Given the description of an element on the screen output the (x, y) to click on. 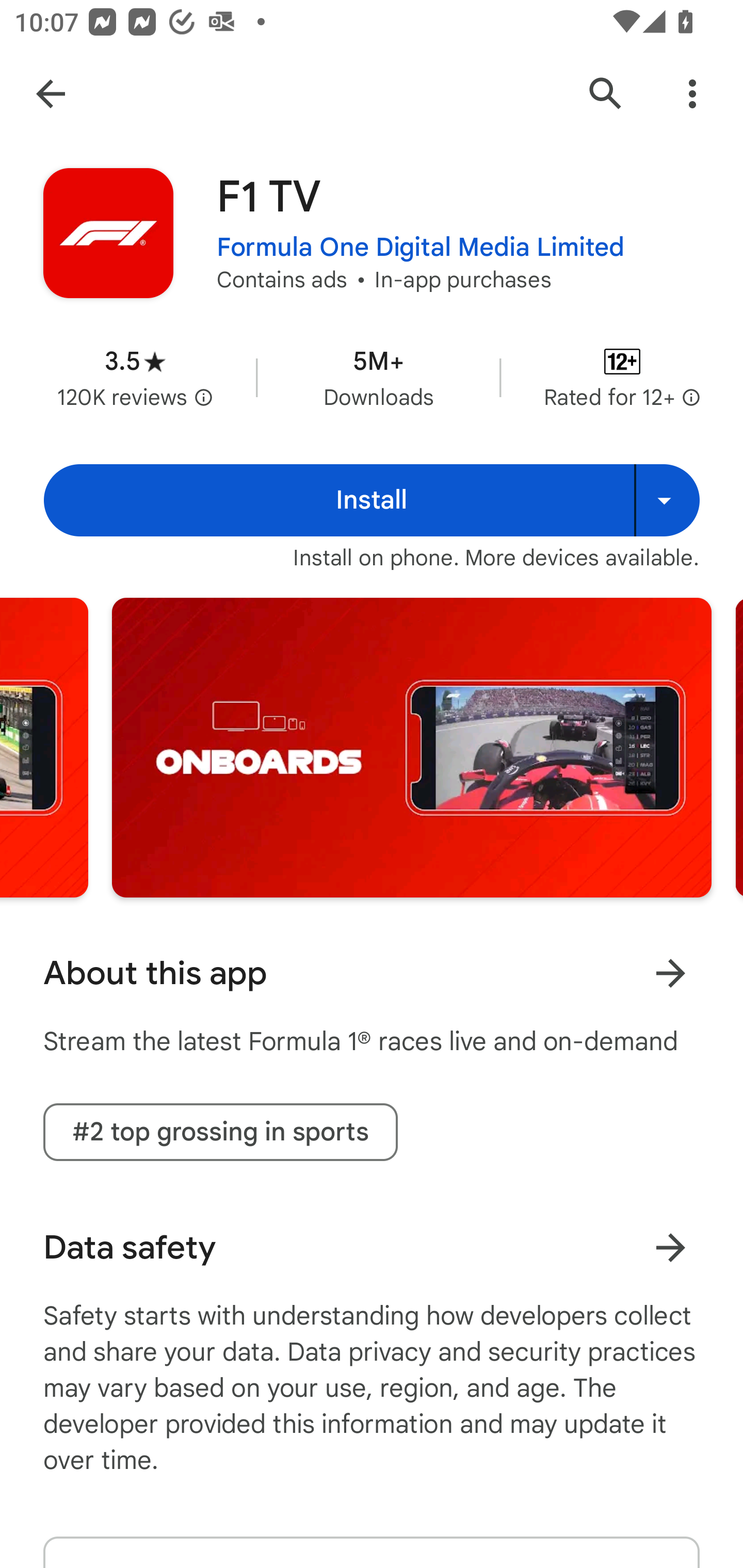
Navigate up (50, 93)
Search Google Play (605, 93)
More Options (692, 93)
Formula One Digital Media Limited (420, 247)
Average rating 3.5 stars in 120 thousand reviews (135, 377)
Content rating Rated for 12+ (622, 377)
Install Install Install on more devices (371, 500)
Install on more devices (667, 500)
Screenshot "2" of "5" (411, 746)
About this app Learn more About this app (371, 972)
Learn more About this app (670, 972)
#2 top grossing in sports tag (220, 1132)
Data safety Learn more about data safety (371, 1247)
Learn more about data safety (670, 1247)
